Given the description of an element on the screen output the (x, y) to click on. 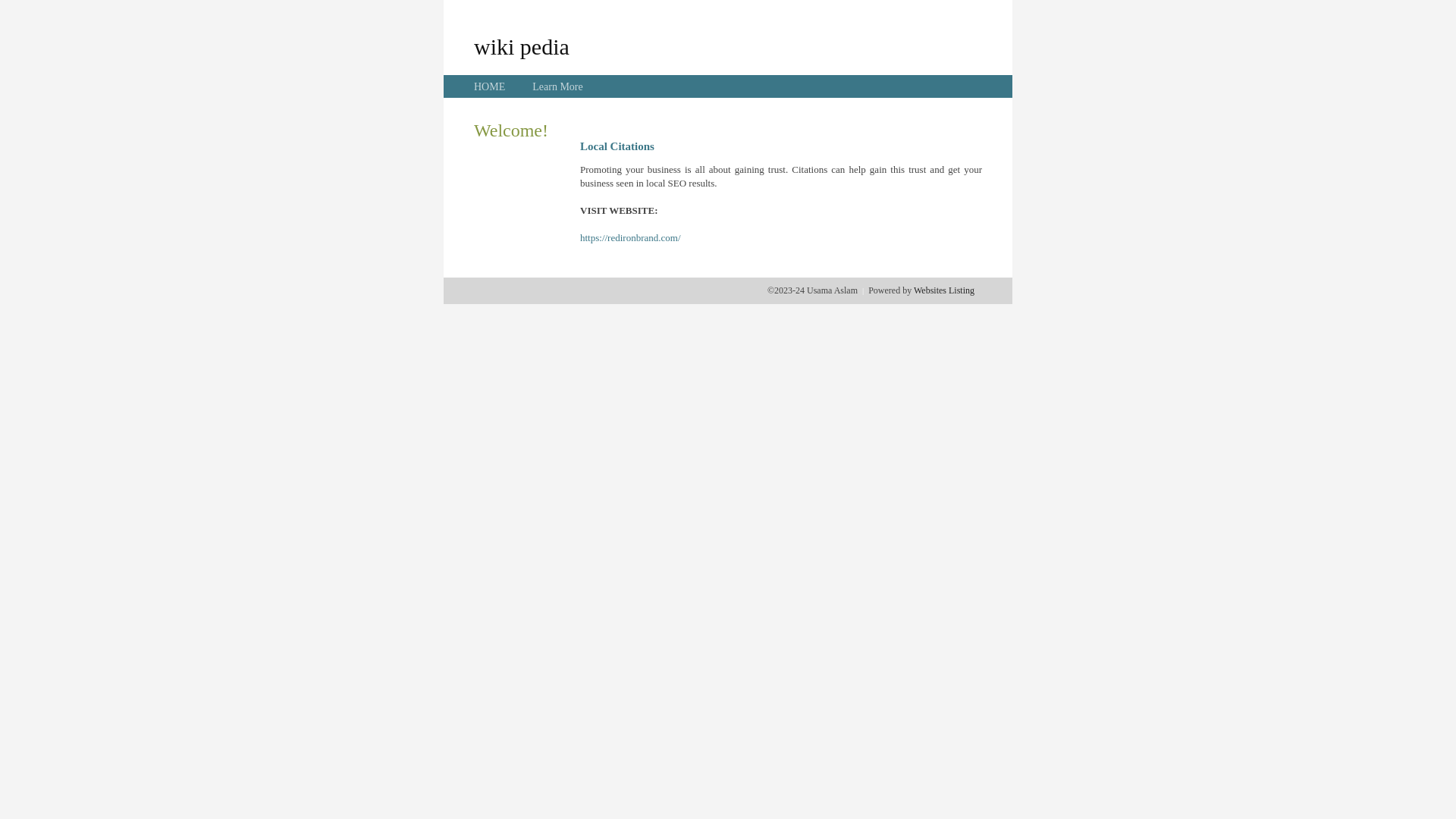
HOME Element type: text (489, 86)
wiki pedia Element type: text (521, 46)
https://redironbrand.com/ Element type: text (630, 237)
Websites Listing Element type: text (943, 290)
Learn More Element type: text (557, 86)
